Given the description of an element on the screen output the (x, y) to click on. 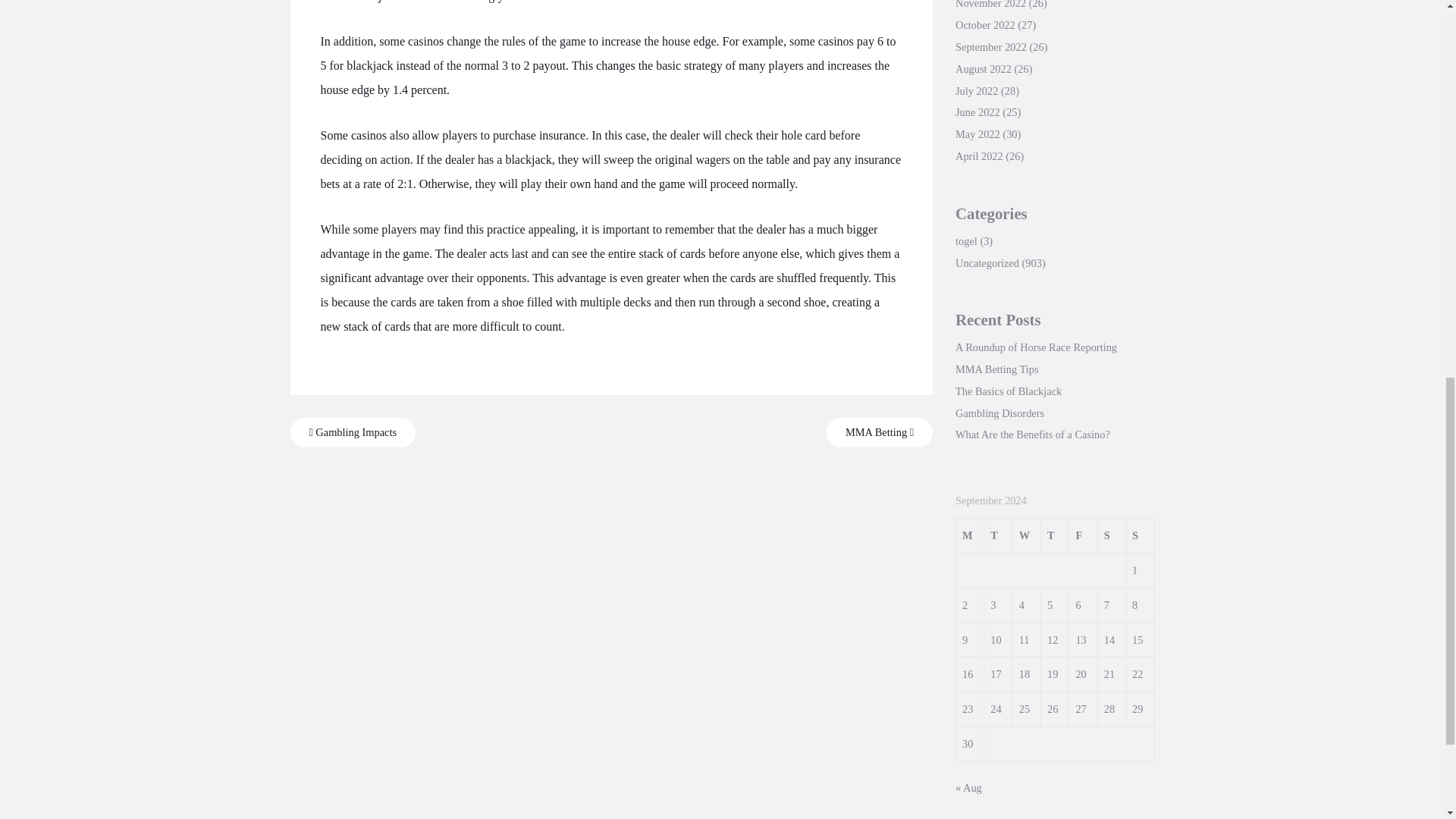
June 2022 (977, 111)
MMA Betting (880, 432)
July 2022 (976, 91)
November 2022 (990, 4)
May 2022 (977, 133)
September 2022 (990, 46)
August 2022 (983, 69)
October 2022 (984, 24)
Gambling Impacts (351, 432)
April 2022 (979, 155)
